Given the description of an element on the screen output the (x, y) to click on. 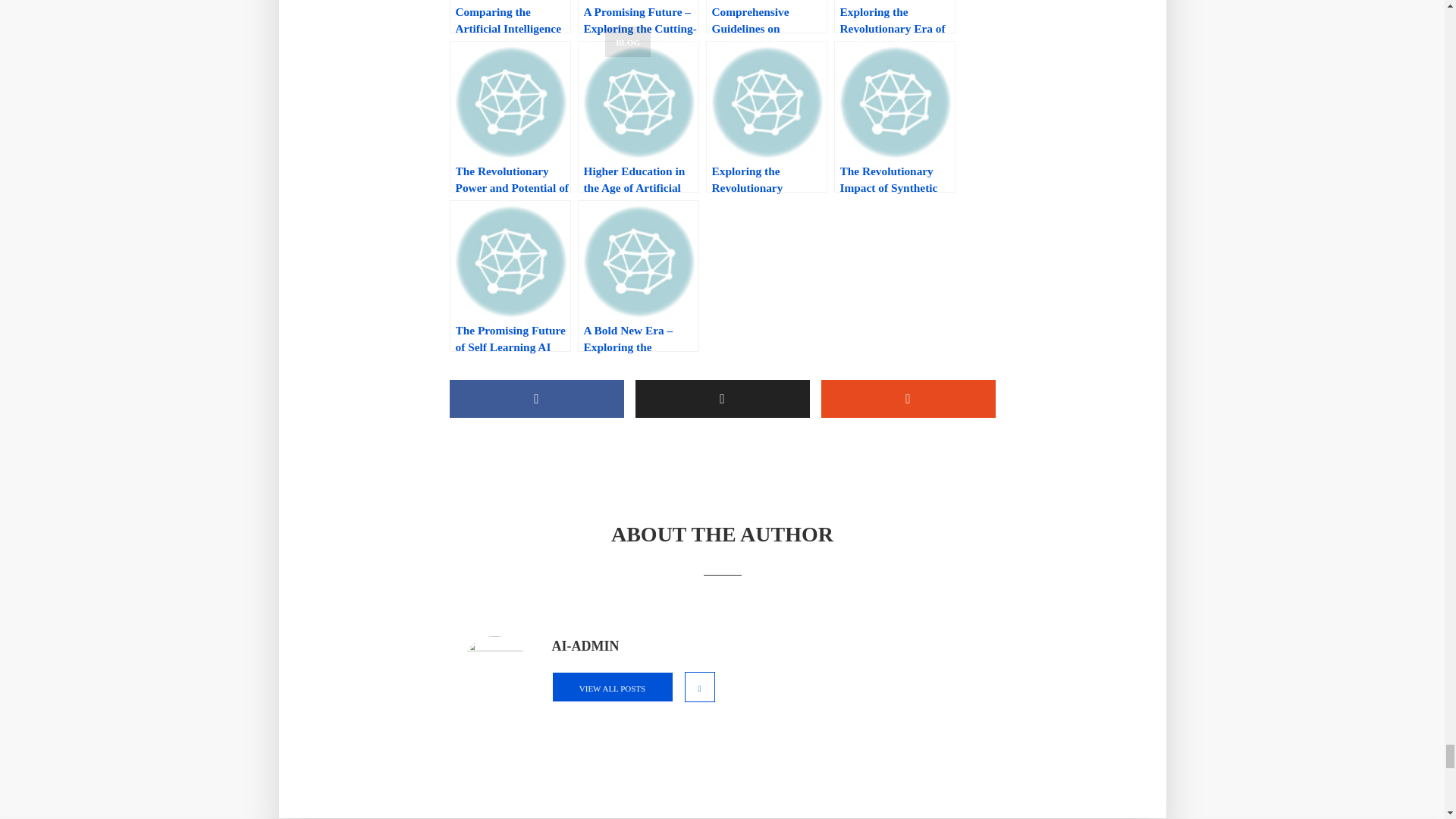
VIEW ALL POSTS (611, 686)
